Given the description of an element on the screen output the (x, y) to click on. 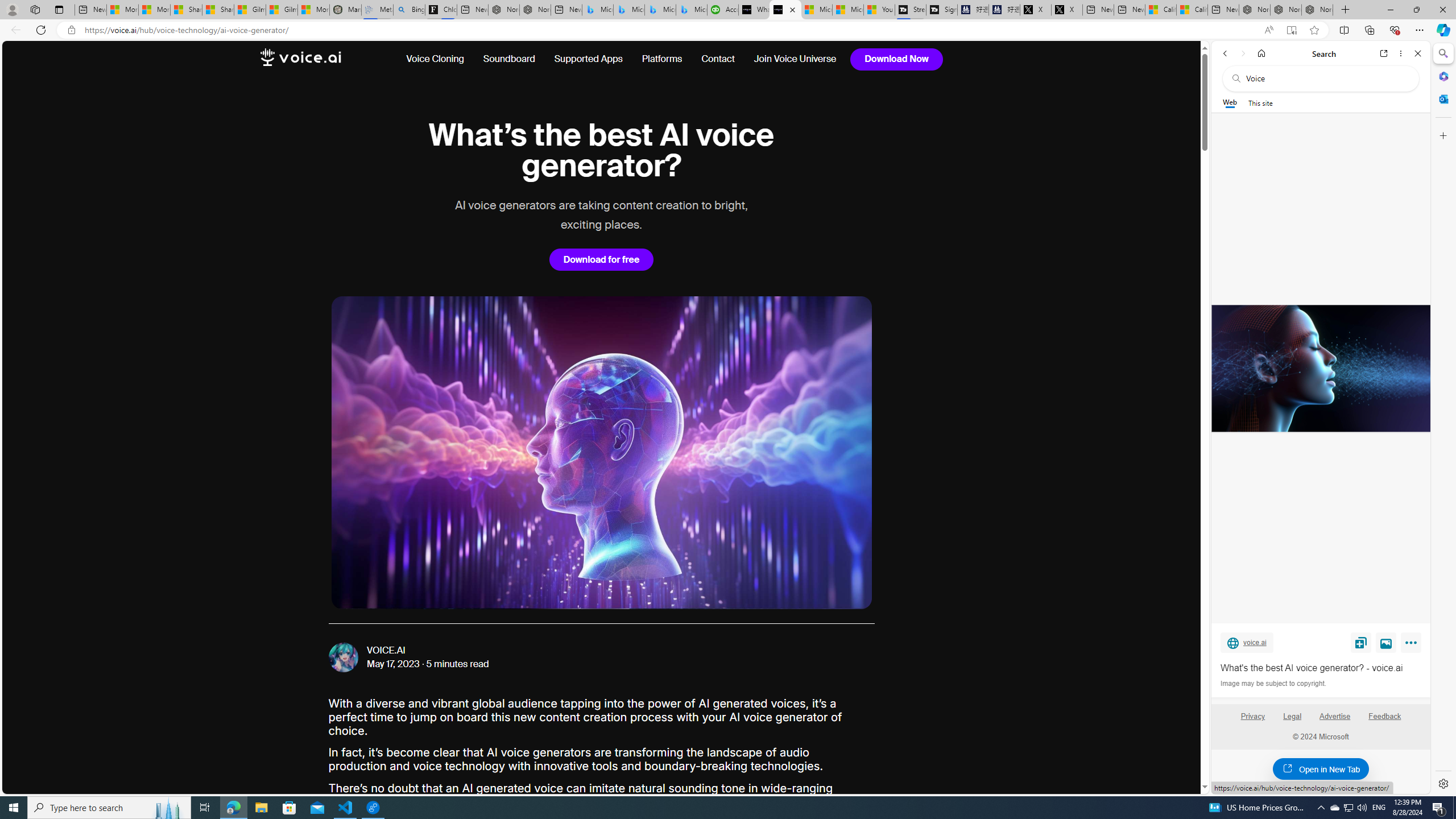
Advertise (1334, 720)
Contact (717, 59)
Search the web (1326, 78)
Nordace - Best Sellers (1254, 9)
Platforms (661, 59)
Open in New Tab (1321, 768)
Side bar (1443, 418)
Supported Apps (587, 59)
Soundboard (508, 59)
Legal (1292, 720)
Nordace Siena Pro 15 Backpack (1285, 9)
Nordace - Siena Pro 15 Essential Set (1317, 9)
Address and search bar (669, 29)
Search (1442, 53)
